Given the description of an element on the screen output the (x, y) to click on. 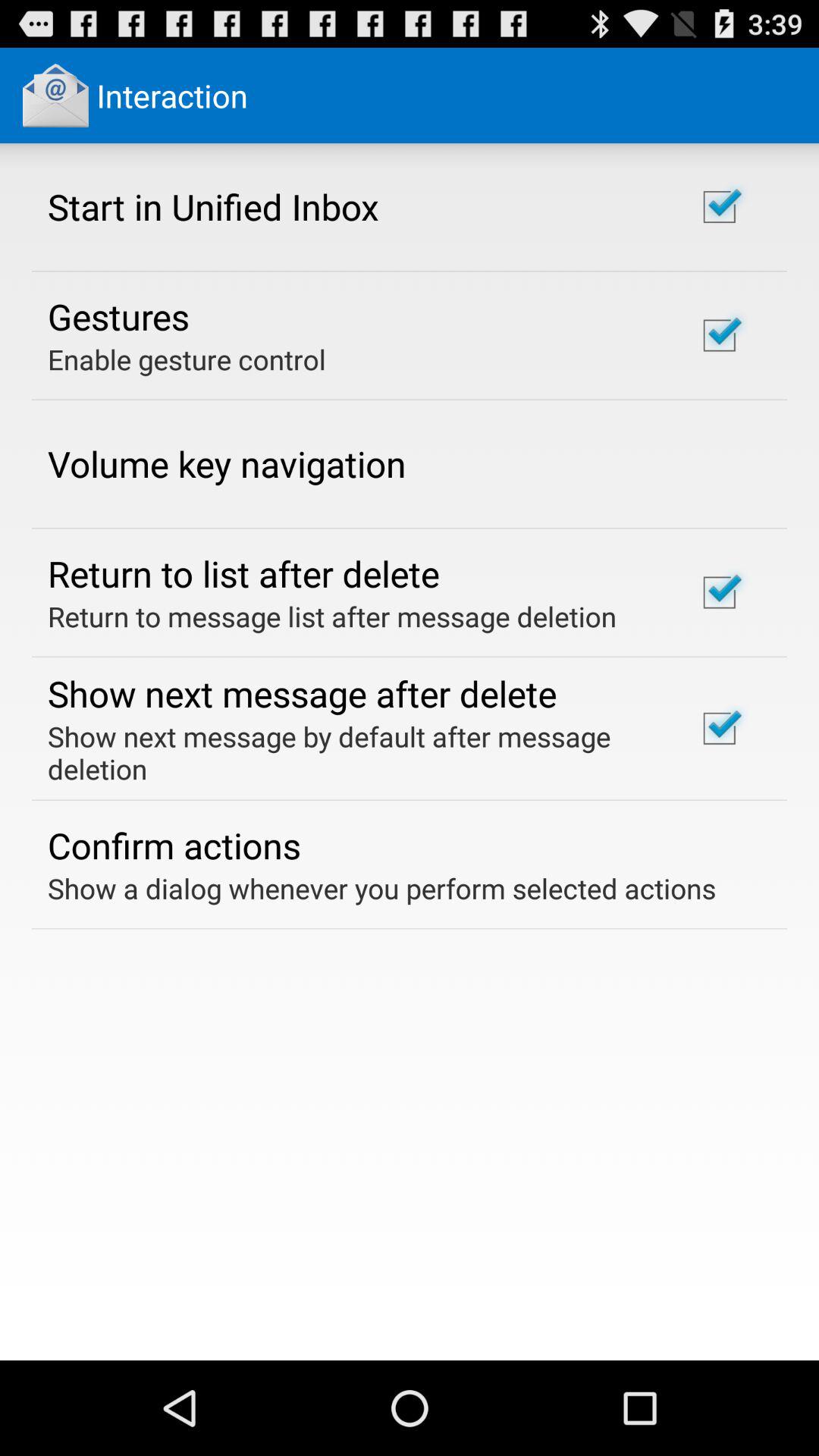
swipe to volume key navigation app (226, 463)
